Given the description of an element on the screen output the (x, y) to click on. 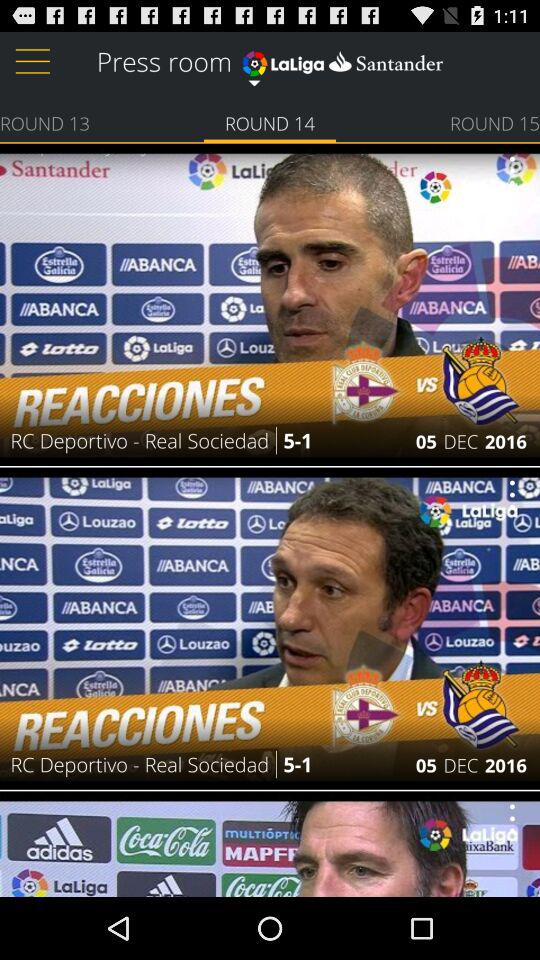
turn on the item next to round 14 (494, 122)
